Given the description of an element on the screen output the (x, y) to click on. 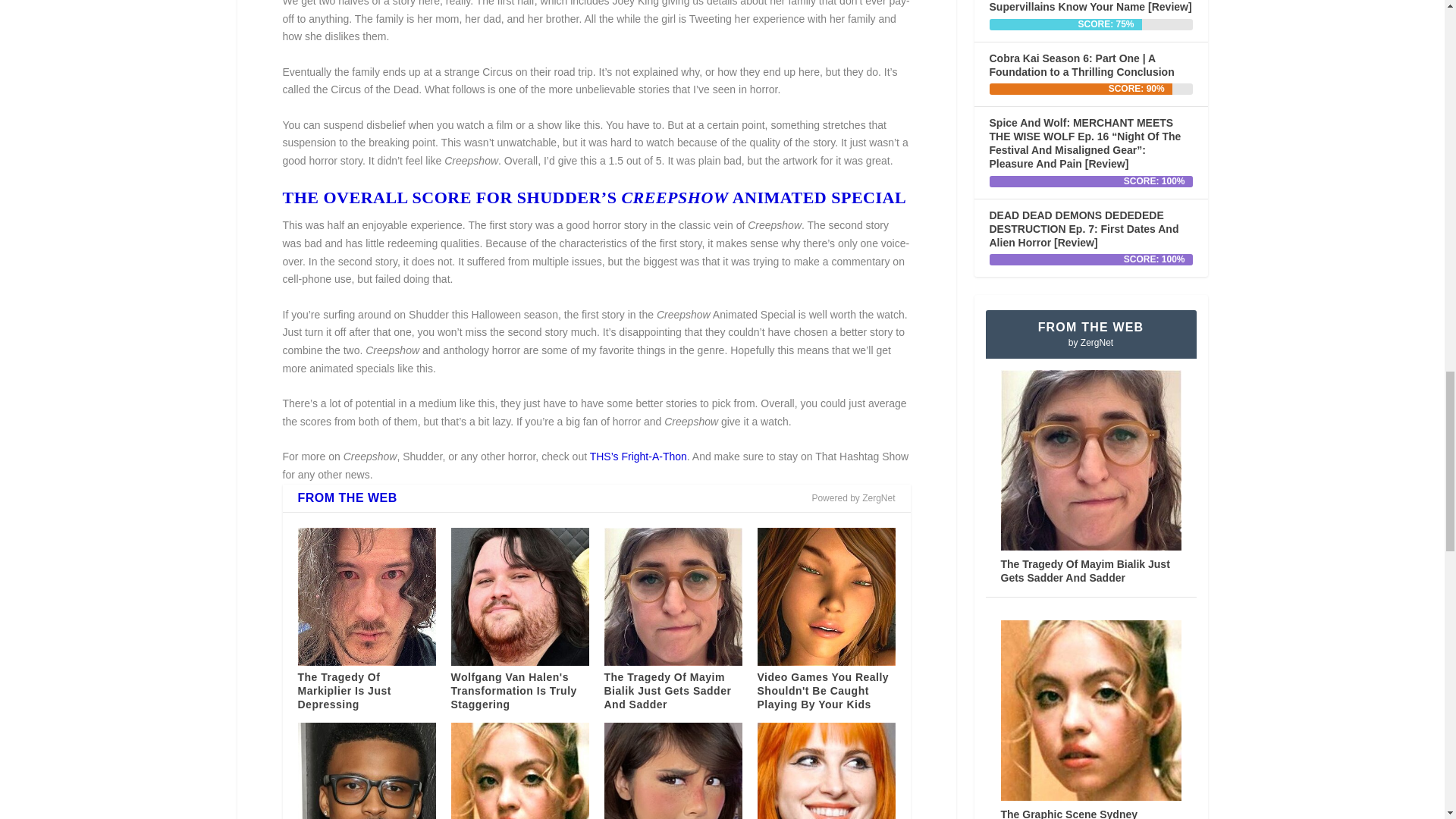
Powered by ZergNet (852, 498)
